Given the description of an element on the screen output the (x, y) to click on. 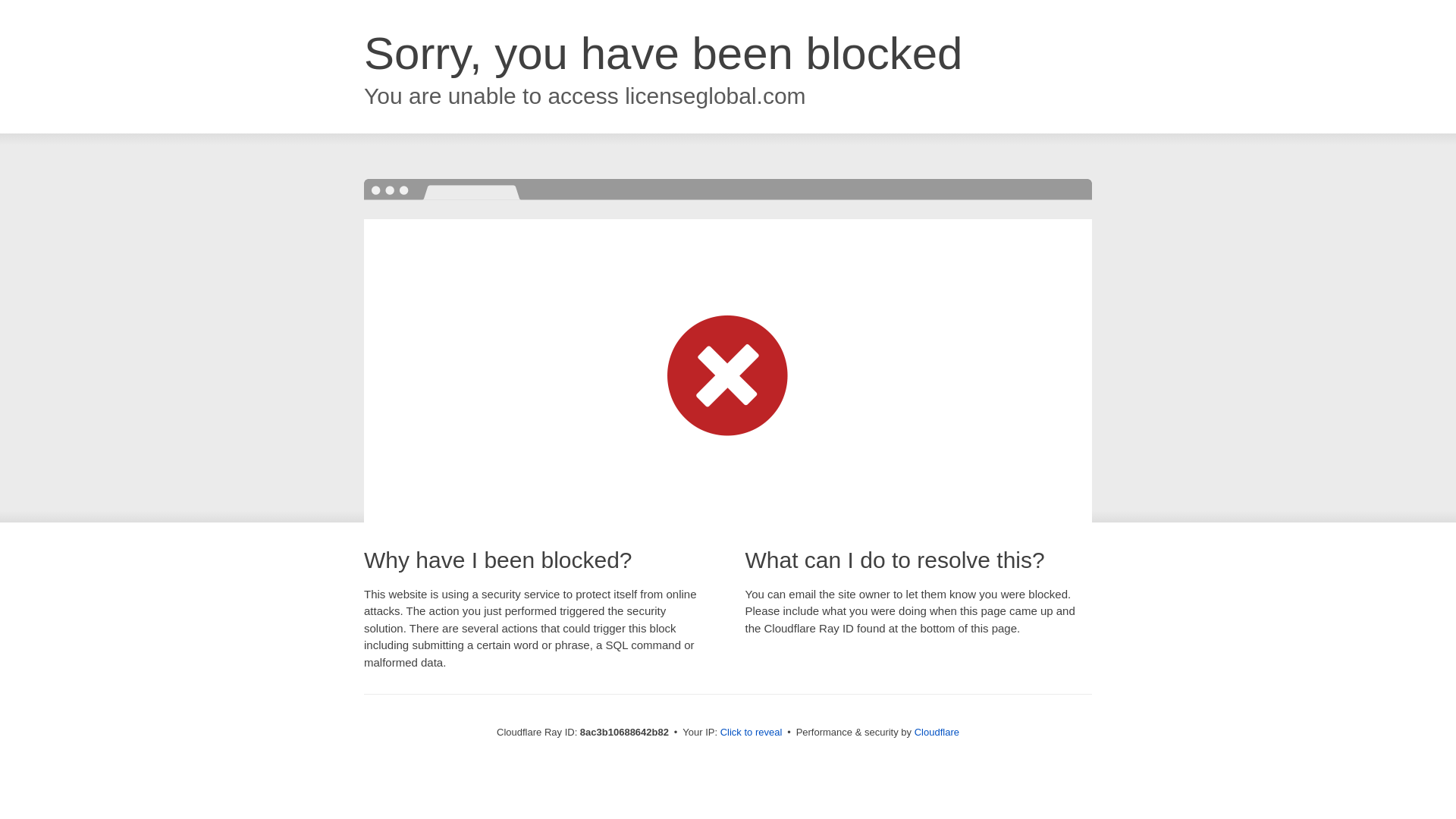
Cloudflare (936, 731)
Click to reveal (751, 732)
